Given the description of an element on the screen output the (x, y) to click on. 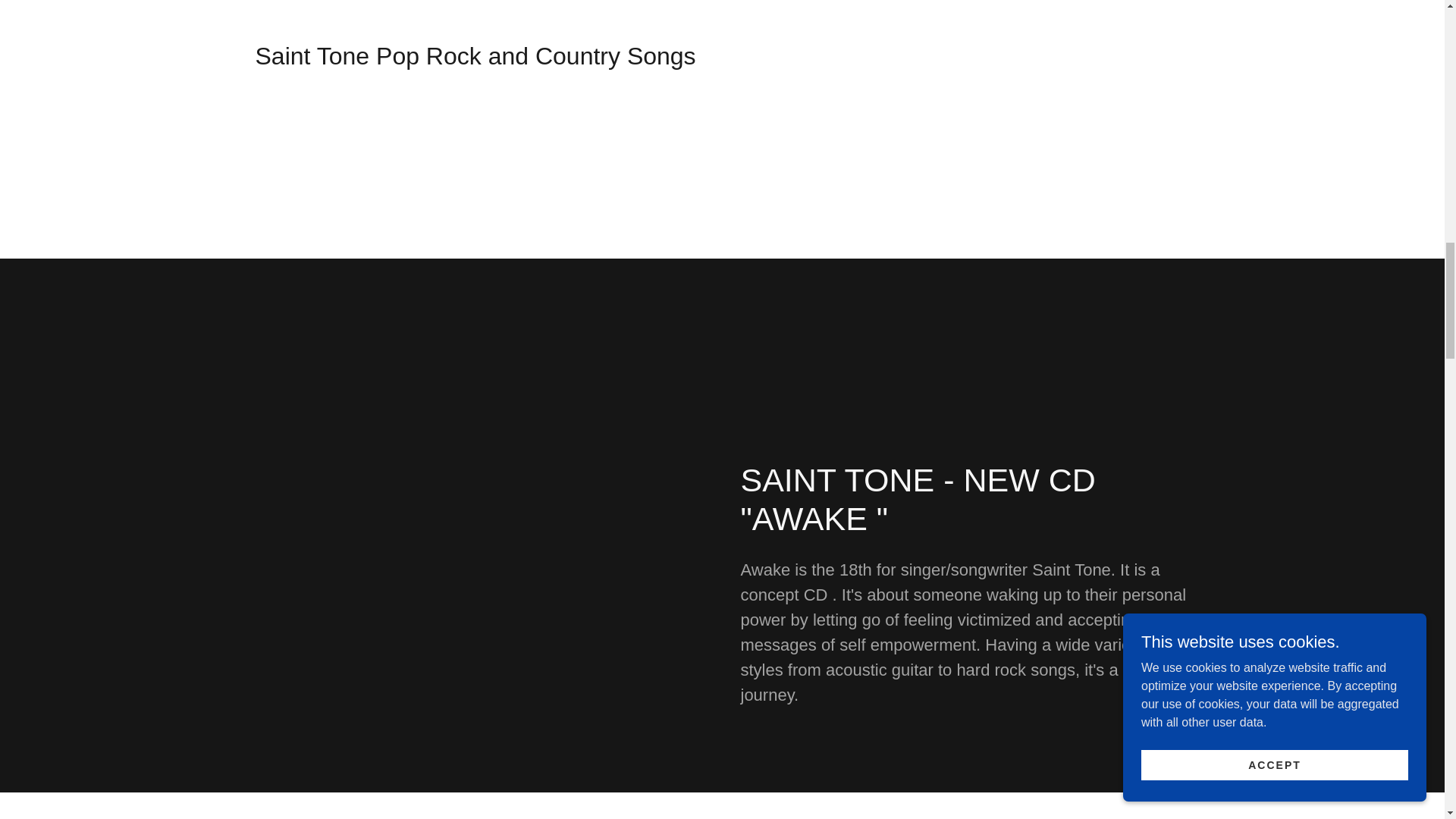
Clickable audio widget (964, 112)
